Given the description of an element on the screen output the (x, y) to click on. 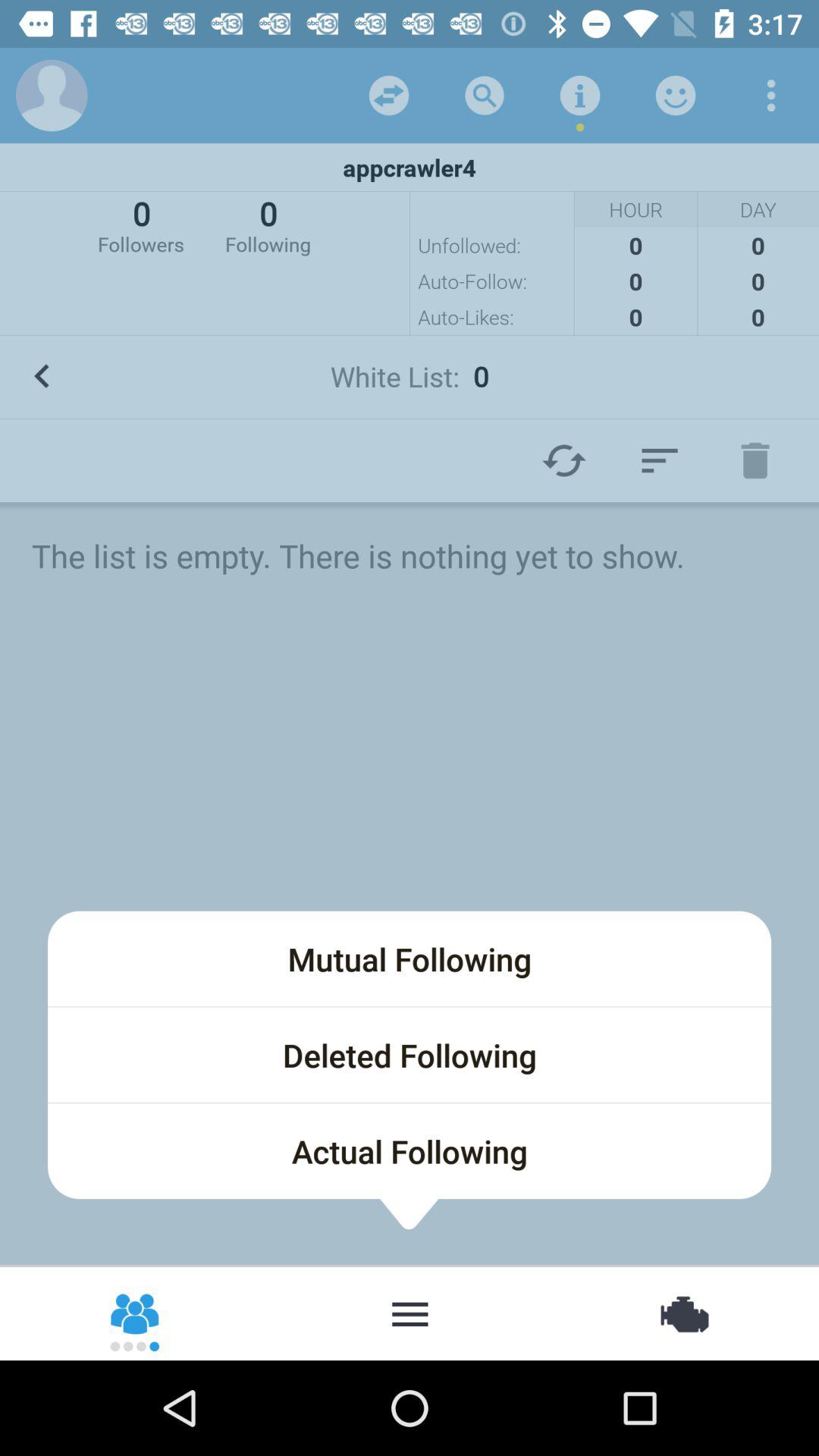
turn off deleted following (409, 1054)
